Given the description of an element on the screen output the (x, y) to click on. 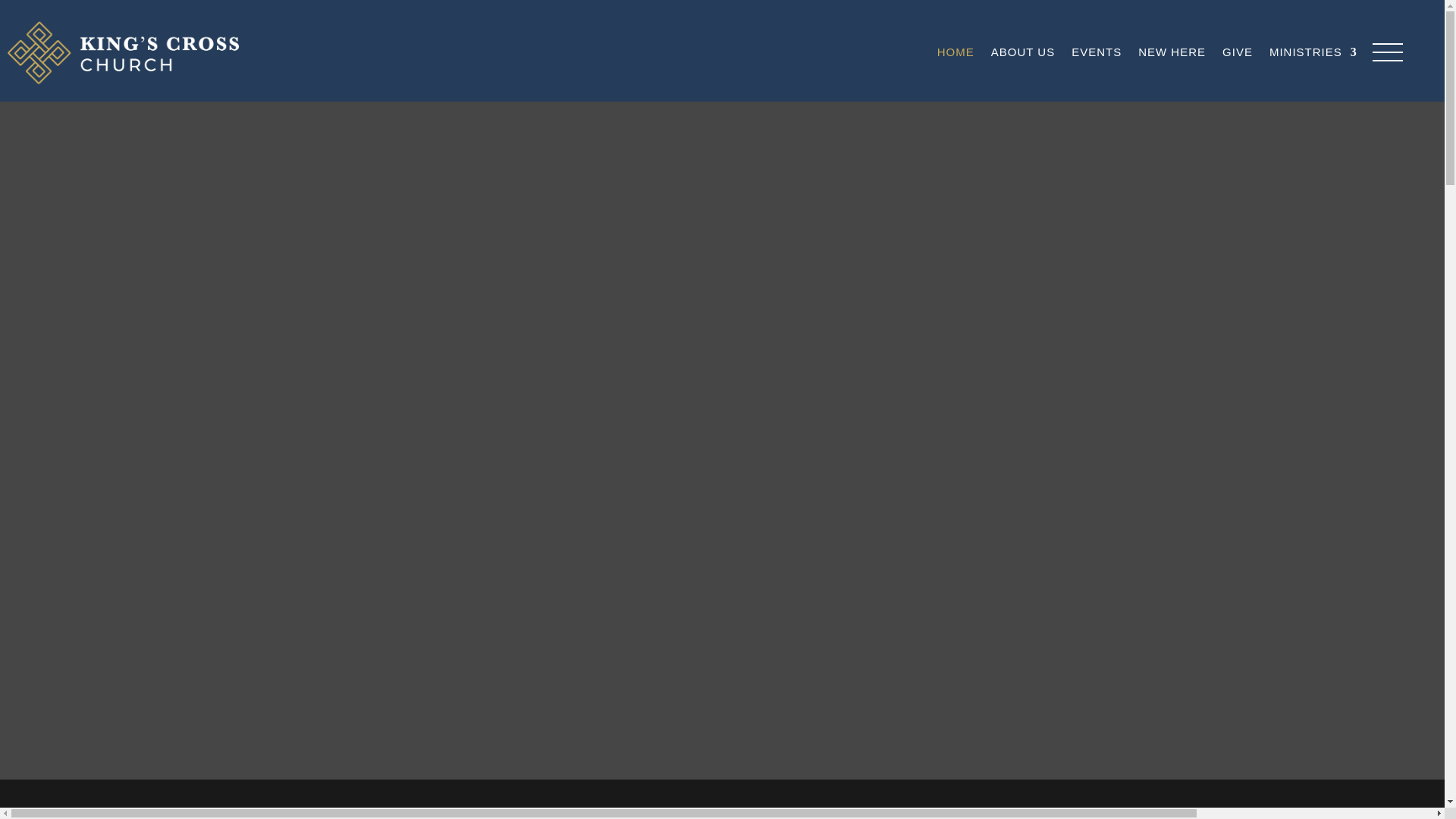
NEW HERE (1171, 52)
SideMenu (1388, 52)
MINISTRIES (1312, 52)
